Given the description of an element on the screen output the (x, y) to click on. 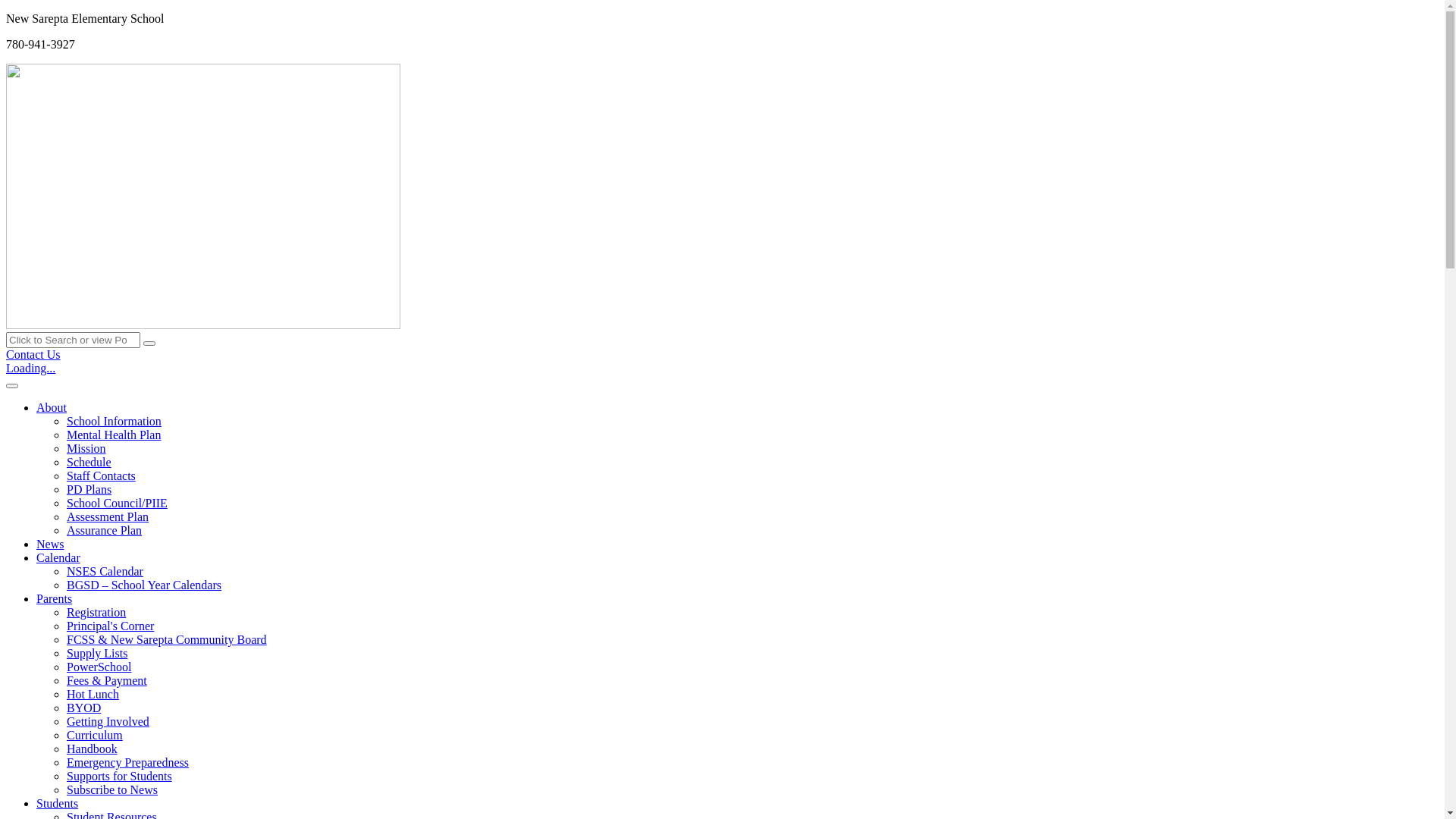
Assurance Plan Element type: text (103, 530)
Students Element type: text (57, 803)
Fees & Payment Element type: text (106, 680)
Mission Element type: text (86, 448)
Getting Involved Element type: text (107, 721)
Subscribe to News Element type: text (111, 789)
School Information Element type: text (113, 420)
Parents Element type: text (54, 598)
Supports for Students Element type: text (119, 775)
Registration Element type: text (95, 611)
Principal's Corner Element type: text (109, 625)
Assessment Plan Element type: text (107, 516)
Mental Health Plan Element type: text (113, 434)
News Element type: text (49, 543)
Curriculum Element type: text (94, 734)
About Element type: text (51, 407)
PowerSchool Element type: text (98, 666)
Hot Lunch Element type: text (92, 693)
NSES Calendar Element type: text (104, 570)
Calendar Element type: text (58, 557)
Handbook Element type: text (91, 748)
Loading... Element type: text (30, 367)
Supply Lists Element type: text (96, 652)
FCSS & New Sarepta Community Board Element type: text (166, 639)
Contact Us Element type: text (33, 354)
Emergency Preparedness Element type: text (127, 762)
BYOD Element type: text (83, 707)
Schedule Element type: text (88, 461)
School Council/PIIE Element type: text (116, 502)
Staff Contacts Element type: text (100, 475)
PD Plans Element type: text (88, 489)
